Given the description of an element on the screen output the (x, y) to click on. 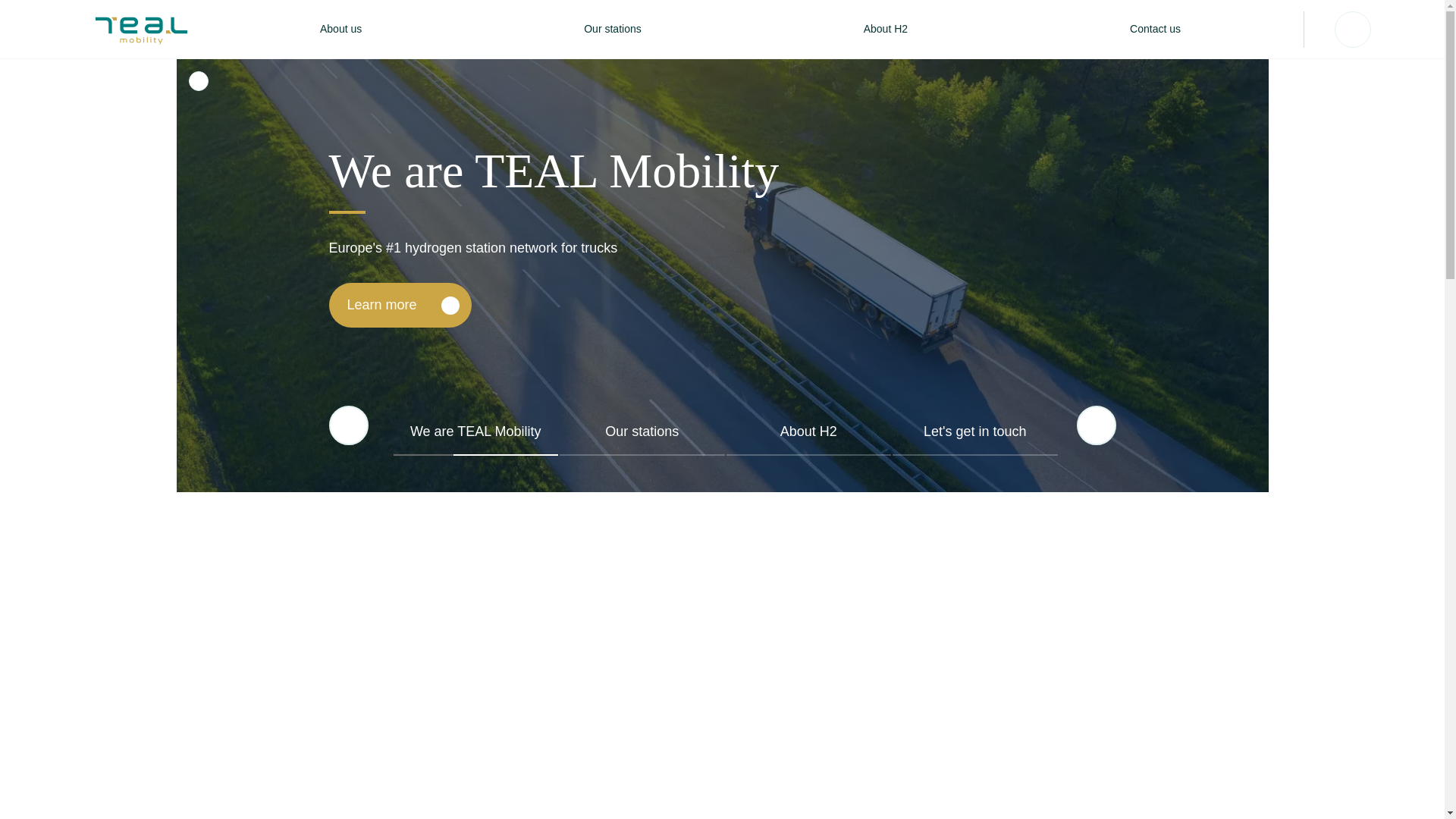
Contact us (1155, 29)
About H2 (885, 29)
Our stations (642, 438)
Our stations (612, 29)
About us (340, 29)
About H2 (808, 438)
Learn more (400, 304)
Previous slide (348, 425)
